Given the description of an element on the screen output the (x, y) to click on. 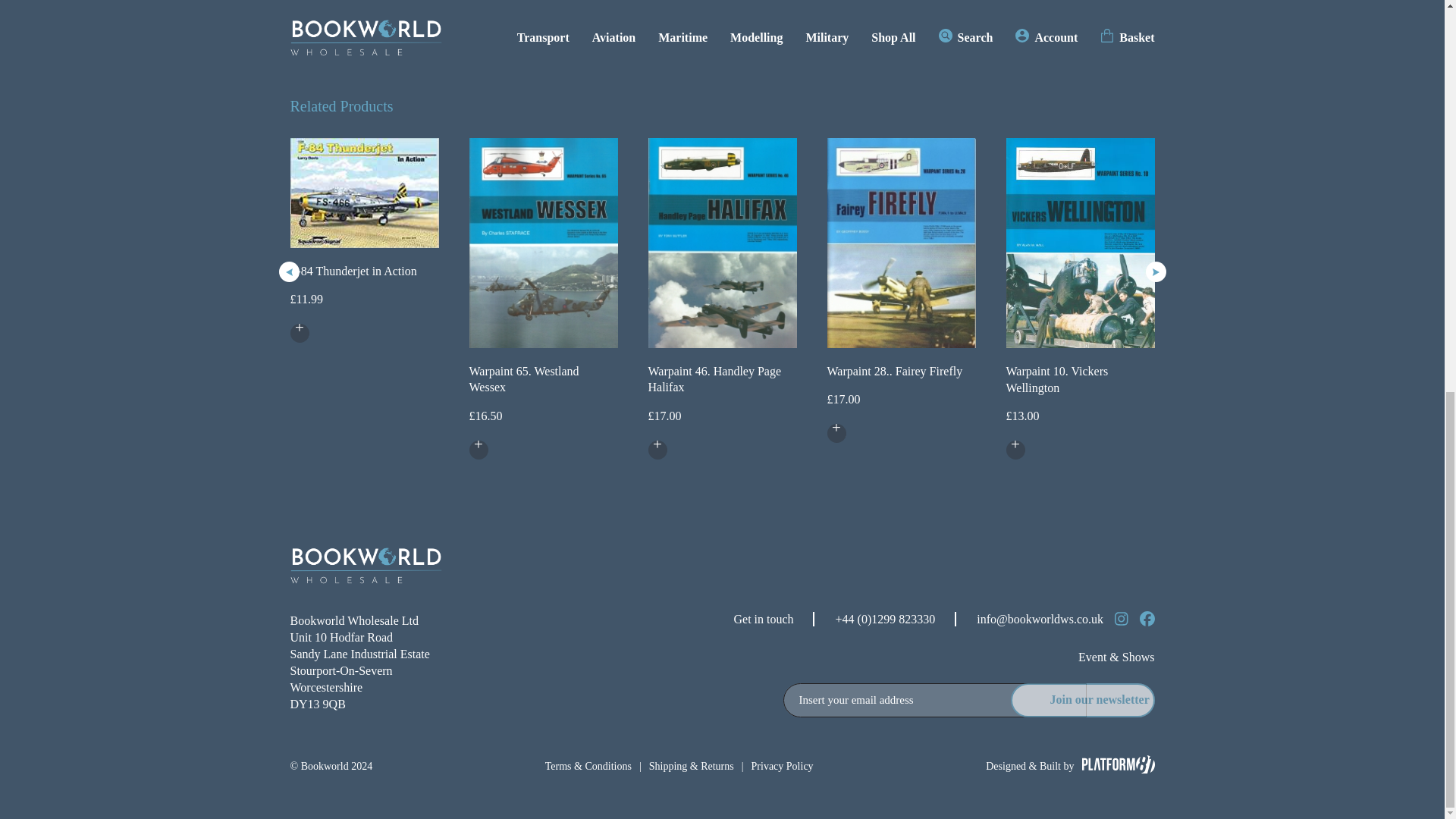
Join our newsletter (1082, 700)
